Given the description of an element on the screen output the (x, y) to click on. 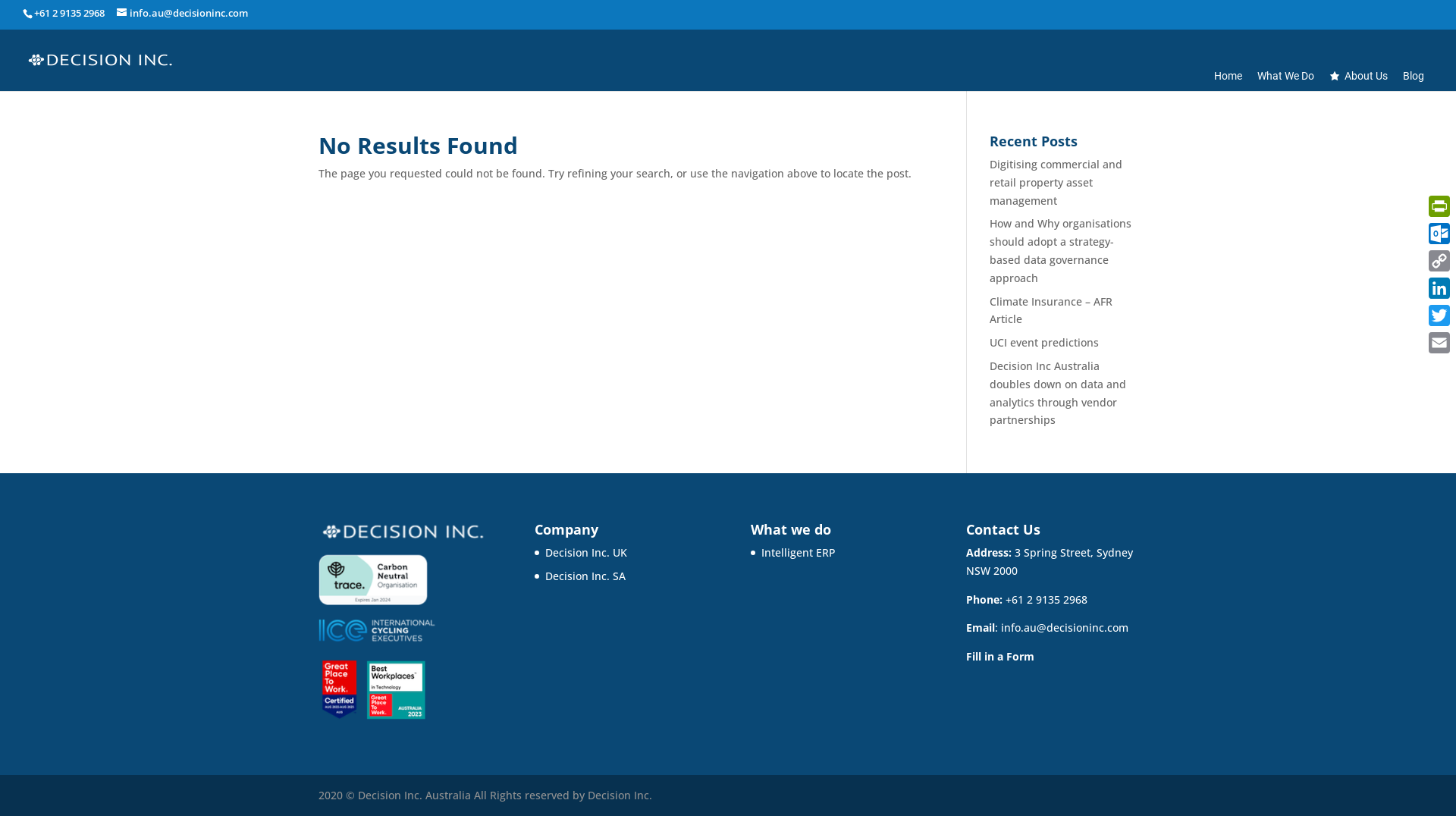
+61 2 9135 2968 Element type: text (1046, 599)
Fill in a Form Element type: text (1000, 656)
LinkedIn Element type: text (1438, 287)
Copy Link Element type: text (1438, 260)
info.au@decisioninc.com Element type: text (1064, 627)
PrintFriendly Element type: text (1438, 205)
What We Do Element type: text (1285, 75)
Twitter Element type: text (1438, 315)
Blog Element type: text (1413, 75)
About Us Element type: text (1358, 75)
UCI event predictions Element type: text (1043, 342)
Outlook.com Element type: text (1438, 233)
Decision Inc. UK Element type: text (586, 552)
info.au@decisioninc.com Element type: text (181, 11)
Decision Inc. SA Element type: text (585, 575)
Intelligent ERP Element type: text (798, 552)
Email Element type: text (1438, 342)
Digitising commercial and retail property asset management Element type: text (1055, 181)
3 Spring Street, Sydney NSW 2000 Element type: text (1049, 561)
Home Element type: text (1227, 75)
